Given the description of an element on the screen output the (x, y) to click on. 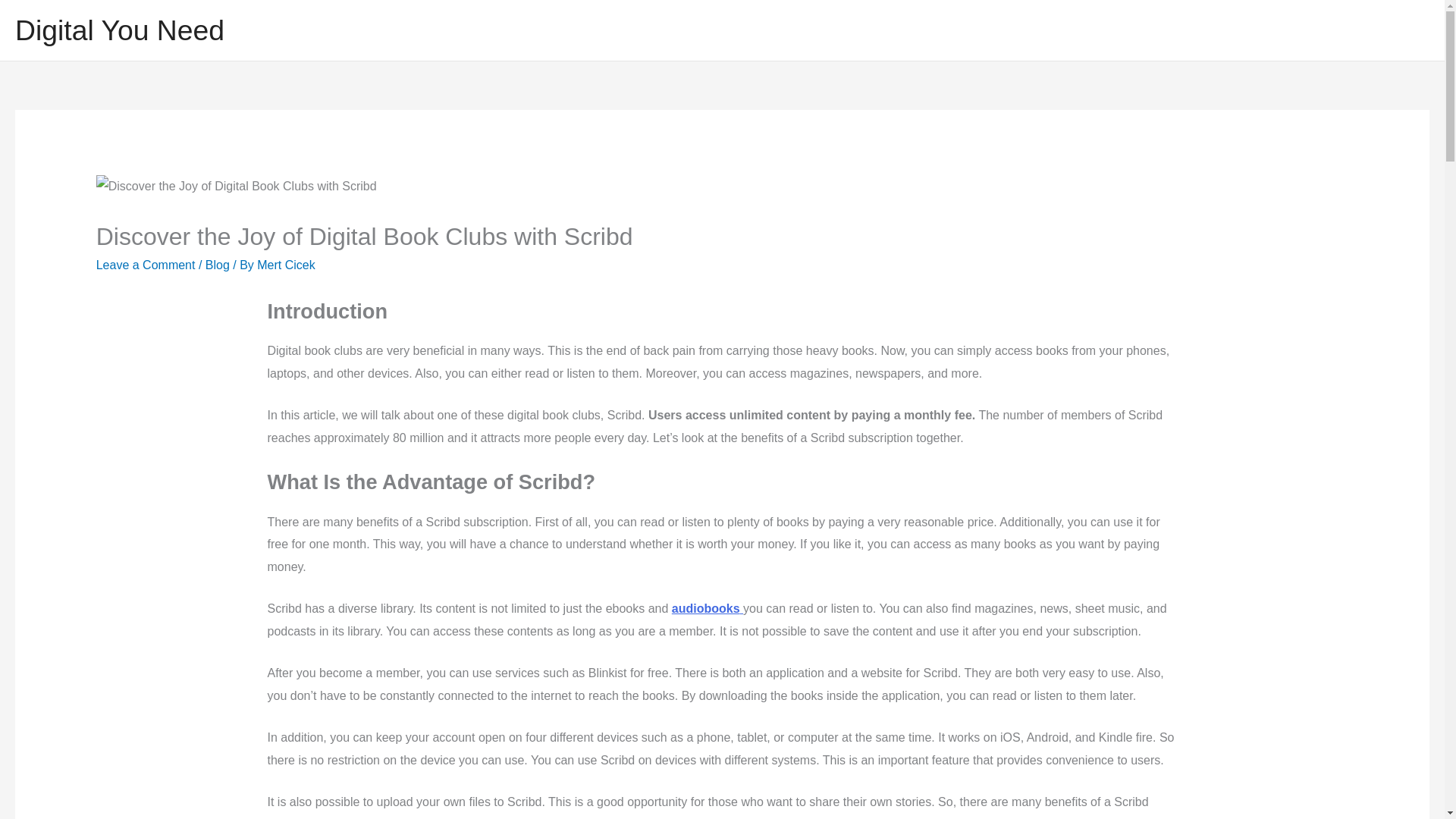
Blog (217, 264)
audiobooks (706, 608)
Digital You Need (119, 29)
Leave a Comment (145, 264)
Mert Cicek (285, 264)
View all posts by Mert Cicek (285, 264)
